Given the description of an element on the screen output the (x, y) to click on. 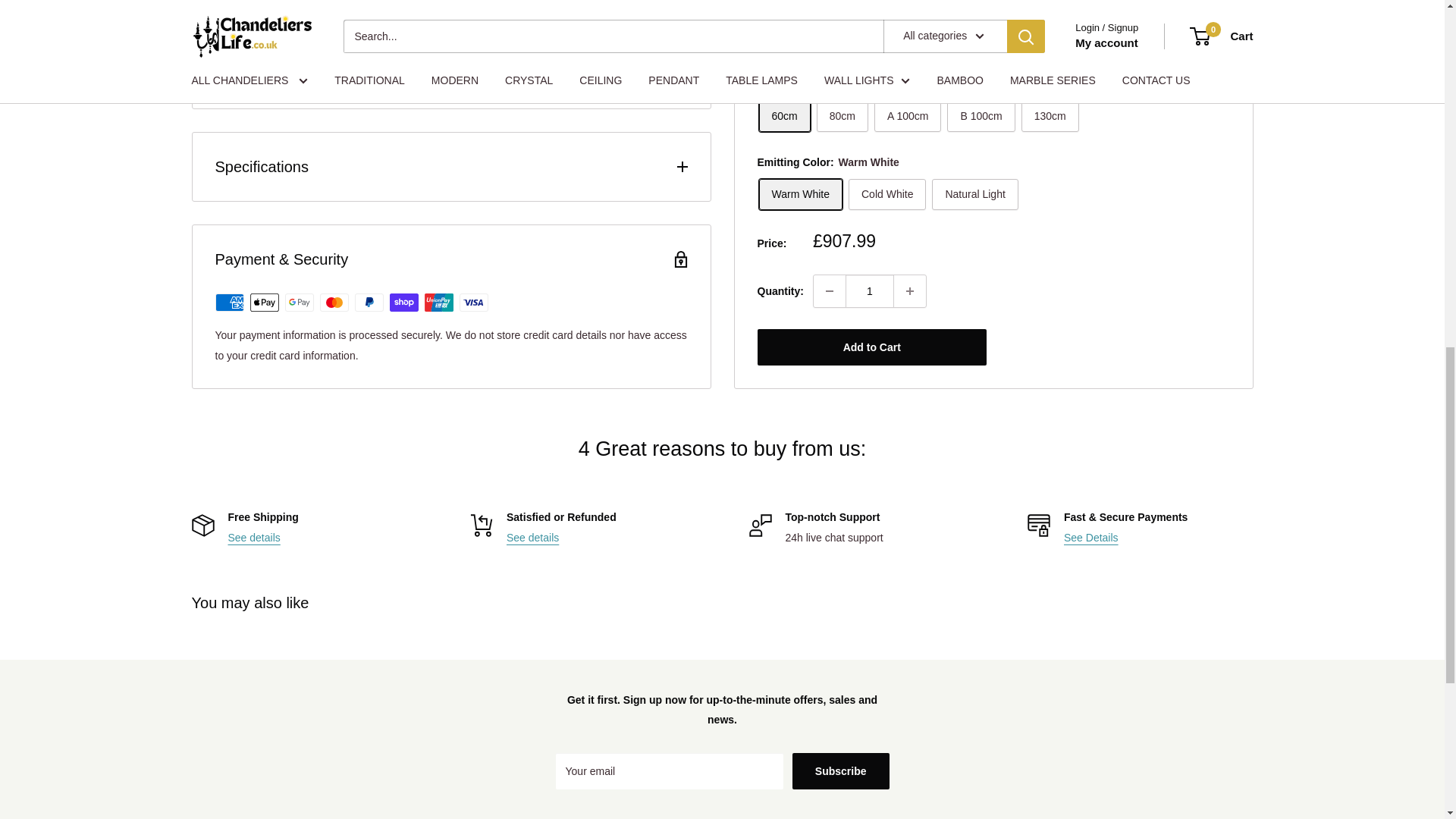
Payment methods (1091, 537)
Refund Policy (532, 537)
Shipping policy (253, 537)
